Given the description of an element on the screen output the (x, y) to click on. 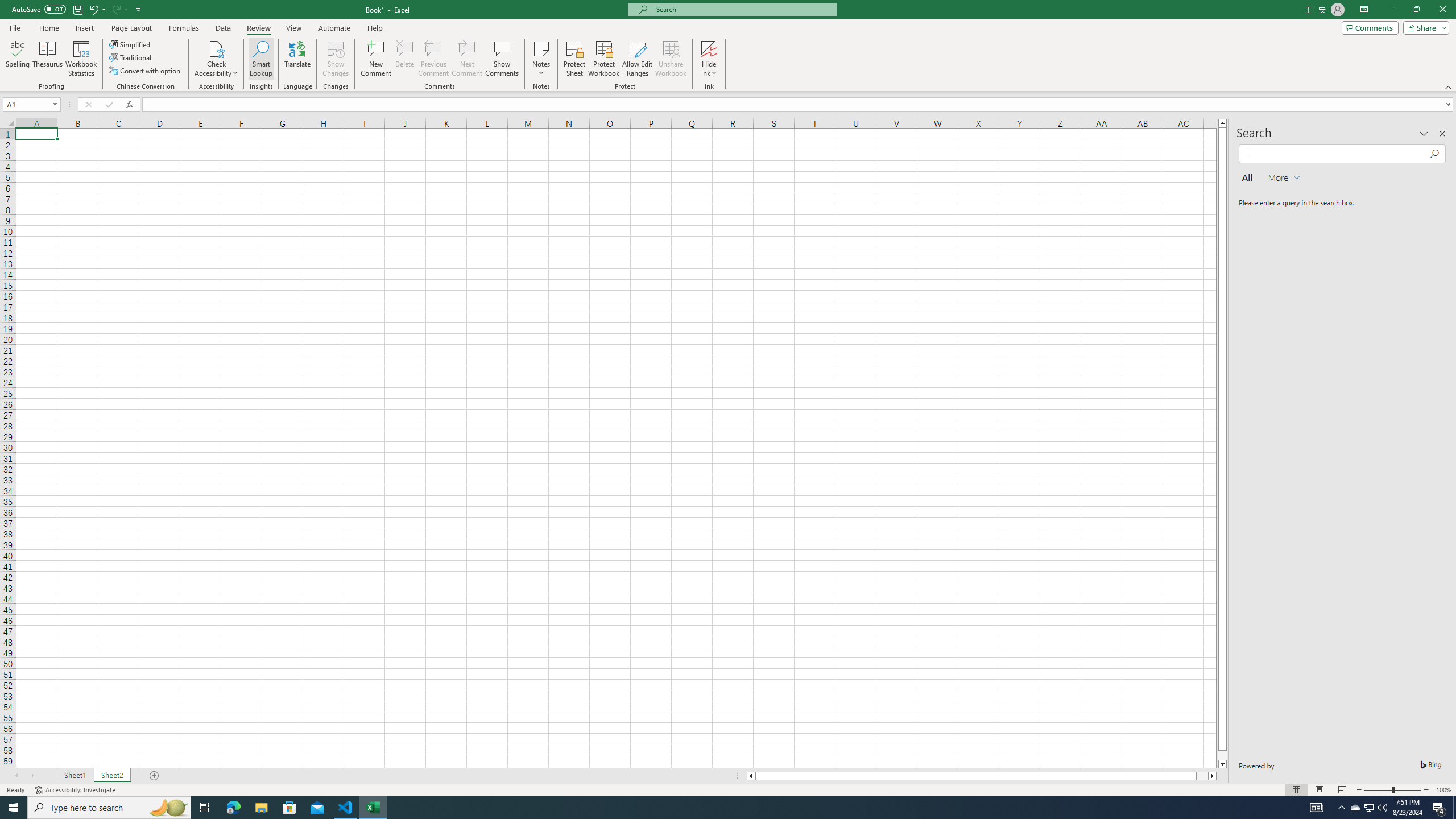
Smart Lookup (260, 58)
Class: MsoCommandBar (728, 45)
Show Changes (335, 58)
Next Comment (466, 58)
Notes (541, 58)
Accessibility Checker Accessibility: Investigate (76, 790)
Check Accessibility (215, 48)
